Given the description of an element on the screen output the (x, y) to click on. 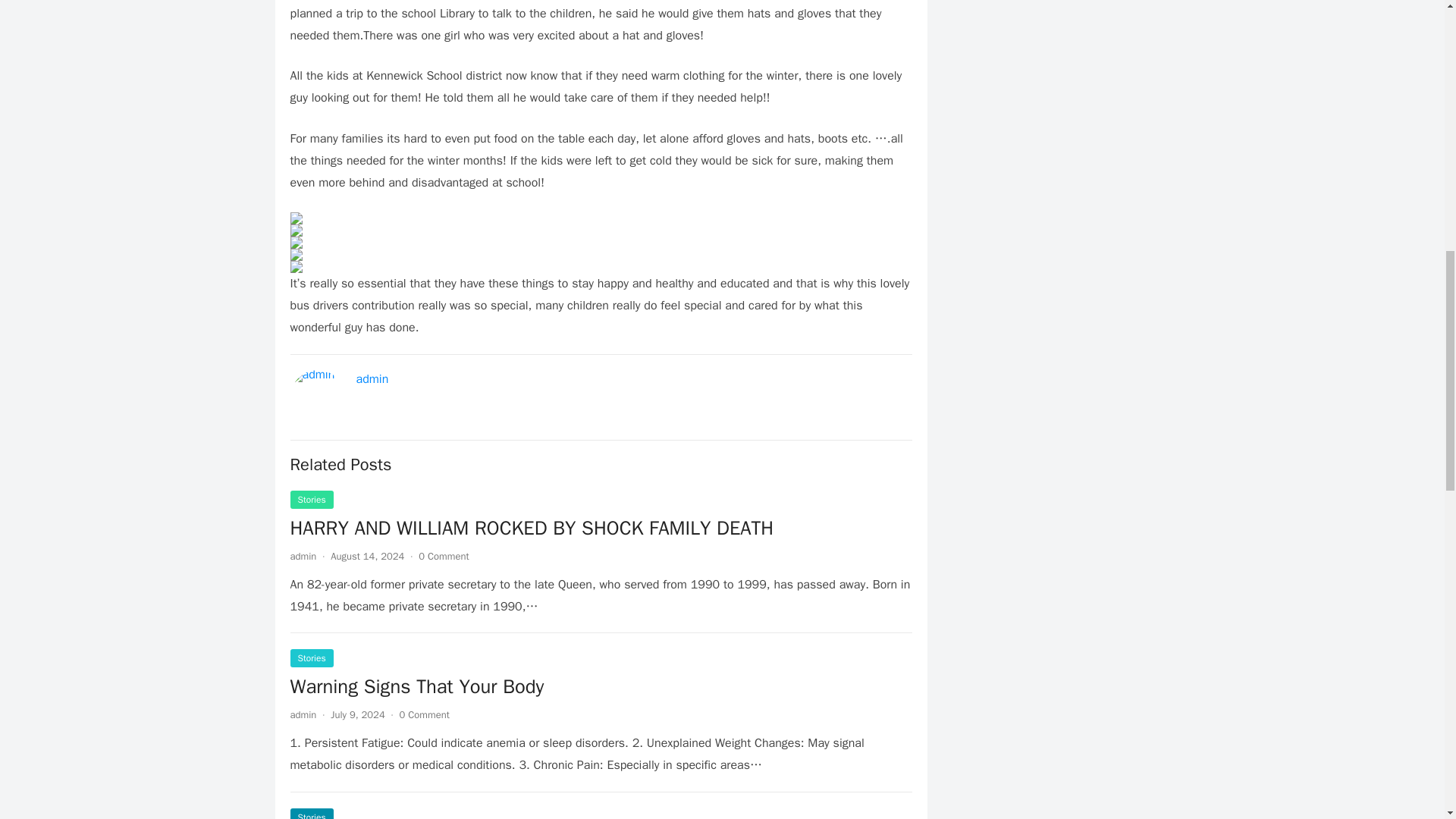
Stories (311, 499)
Posts by admin (302, 555)
admin (302, 555)
Stories (311, 813)
admin (372, 378)
HARRY AND WILLIAM ROCKED BY SHOCK FAMILY DEATH (531, 527)
Warning Signs That Your Body (416, 686)
0 Comment (423, 714)
Posts by admin (302, 714)
Stories (311, 658)
